Given the description of an element on the screen output the (x, y) to click on. 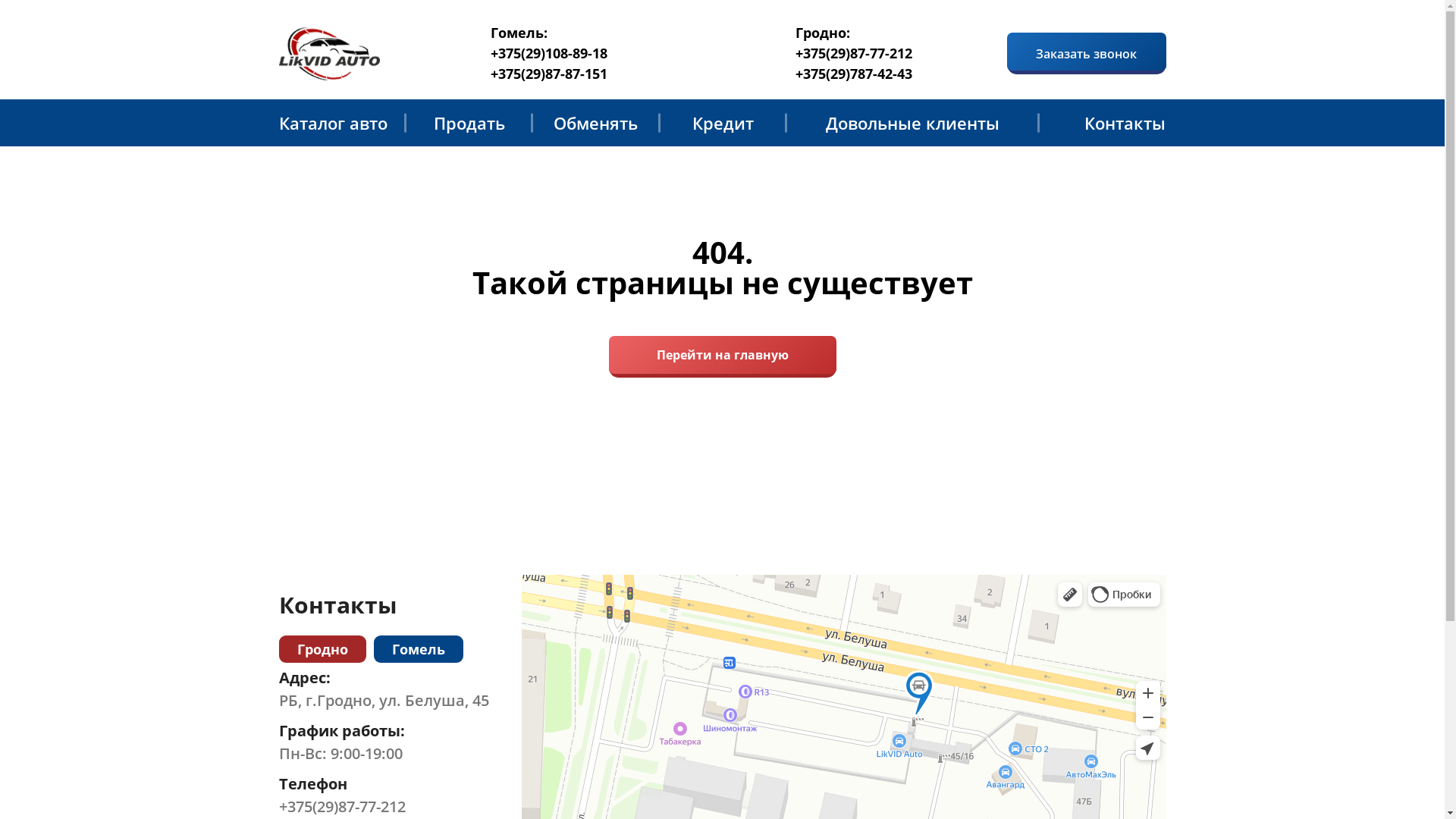
+375(29)787-42-43 Element type: text (853, 73)
+375(29)87-77-212 Element type: text (384, 806)
+375(29)108-89-18 Element type: text (548, 53)
+375(29)87-77-212 Element type: text (853, 53)
+375(29)87-87-151 Element type: text (548, 73)
